Given the description of an element on the screen output the (x, y) to click on. 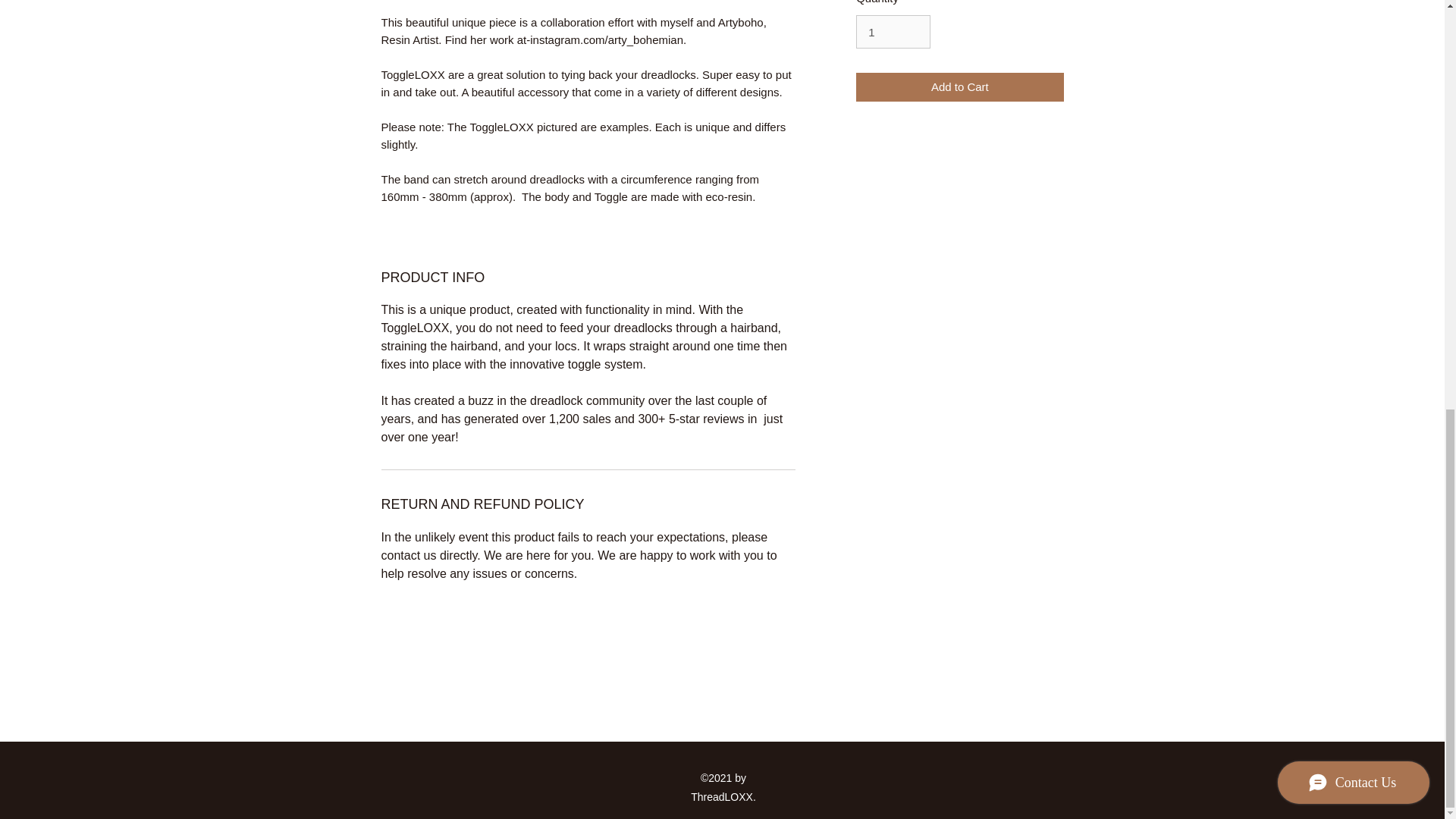
1 (893, 31)
